Given the description of an element on the screen output the (x, y) to click on. 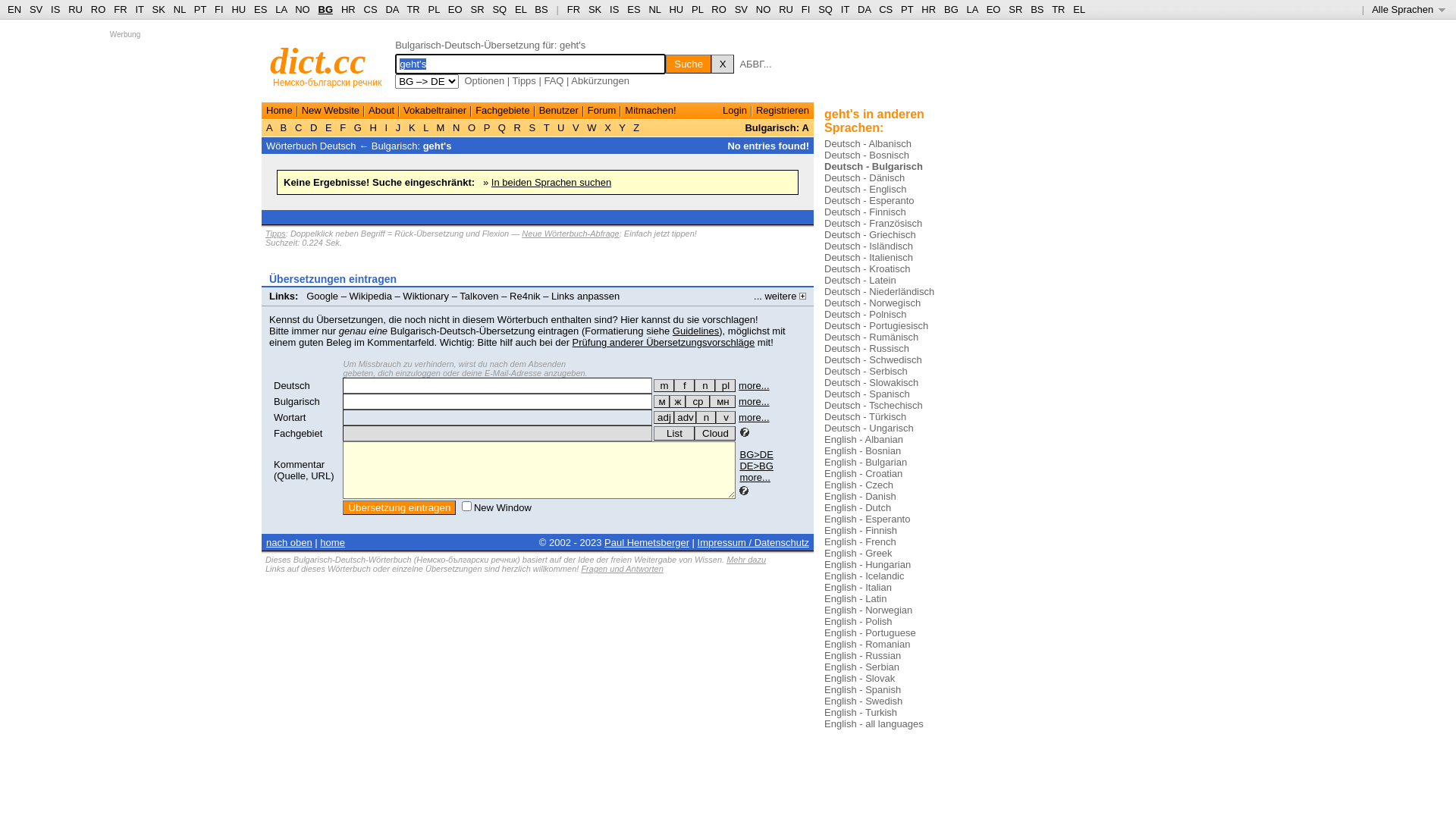
G Element type: text (357, 127)
IT Element type: text (138, 9)
PL Element type: text (433, 9)
Benutzer Element type: text (558, 110)
English - Spanish Element type: text (862, 689)
BG>DE Element type: text (755, 454)
IS Element type: text (54, 9)
English - Croatian Element type: text (863, 473)
Deutsch - Esperanto Element type: text (869, 200)
nach oben Element type: text (289, 542)
Deutsch - Slowakisch Element type: text (871, 382)
O Element type: text (470, 127)
... weitere Element type: text (779, 295)
FI Element type: text (805, 9)
Guidelines Element type: text (695, 330)
BG Element type: text (325, 9)
Tipps Element type: text (524, 80)
home Element type: text (332, 542)
EN Element type: text (14, 9)
PT Element type: text (200, 9)
English - Czech Element type: text (858, 484)
X Element type: text (722, 63)
Deutsch - Finnisch Element type: text (865, 211)
Talkoven Element type: text (478, 295)
B Element type: text (283, 127)
Deutsch - Russisch Element type: text (866, 348)
NO Element type: text (302, 9)
Vokabeltrainer Element type: text (434, 110)
M Element type: text (440, 127)
SQ Element type: text (825, 9)
W Element type: text (591, 127)
Impressum / Datenschutz Element type: text (753, 542)
die - weiblich (Femininum) Element type: hover (684, 385)
ES Element type: text (260, 9)
HU Element type: text (238, 9)
Login Element type: text (734, 110)
Deutsch - Kroatisch Element type: text (867, 268)
dict.cc Element type: text (317, 60)
English - all languages Element type: text (873, 723)
EL Element type: text (1079, 9)
List Element type: text (673, 433)
SQ Element type: text (499, 9)
Mehr dazu Element type: text (745, 559)
m Element type: text (663, 385)
About Element type: text (381, 110)
BG Element type: text (951, 9)
SV Element type: text (35, 9)
D Element type: text (313, 127)
f Element type: text (684, 385)
A Element type: text (270, 127)
English - Latin Element type: text (855, 598)
SV Element type: text (740, 9)
more... Element type: text (753, 401)
FR Element type: text (573, 9)
Wiktionary Element type: text (425, 295)
Deutsch - Polnisch Element type: text (865, 314)
die - Mehrzahl (Plural) Element type: hover (725, 385)
adv Element type: text (685, 417)
L Element type: text (425, 127)
TR Element type: text (412, 9)
Deutsch Element type: text (291, 385)
English - Albanian Element type: text (863, 439)
X Element type: text (608, 127)
In beiden Sprachen suchen Element type: text (551, 182)
Tipps Element type: text (275, 233)
more... Element type: text (754, 477)
Re4nik Element type: text (524, 295)
New Website Element type: text (330, 110)
English - Esperanto Element type: text (867, 518)
EL Element type: text (520, 9)
P Element type: text (486, 127)
n Element type: text (705, 417)
Deutsch - Portugiesisch Element type: text (876, 325)
FI Element type: text (218, 9)
Links anpassen Element type: text (585, 295)
Optionen Element type: text (484, 80)
RO Element type: text (98, 9)
Fragen und Antworten Element type: text (621, 568)
geht's Element type: text (437, 144)
C Element type: text (297, 127)
Cloud Element type: text (714, 433)
SR Element type: text (1015, 9)
RU Element type: text (75, 9)
BS Element type: text (540, 9)
K Element type: text (411, 127)
IS Element type: text (613, 9)
BS Element type: text (1036, 9)
Z Element type: text (636, 127)
more... Element type: text (753, 385)
DA Element type: text (391, 9)
Deutsch - Latein Element type: text (860, 279)
U Element type: text (560, 127)
Deutsch - Norwegisch Element type: text (872, 302)
Paul Hemetsberger Element type: text (646, 542)
n Element type: text (704, 385)
HR Element type: text (928, 9)
English - Icelandic Element type: text (864, 575)
English - Bulgarian Element type: text (865, 461)
F Element type: text (342, 127)
English - Greek Element type: text (858, 552)
Bulgarisch Element type: text (296, 401)
Google Element type: text (322, 295)
English - Polish Element type: text (858, 621)
English - Dutch Element type: text (857, 507)
NL Element type: text (654, 9)
English - Swedish Element type: text (863, 700)
EO Element type: text (993, 9)
DE>BG Element type: text (755, 465)
FR Element type: text (119, 9)
English - Finnish Element type: text (860, 530)
Suche Element type: text (688, 63)
Deutsch - Tschechisch Element type: text (873, 405)
Deutsch - Schwedisch Element type: text (873, 359)
Y Element type: text (621, 127)
Home Element type: text (279, 110)
HU Element type: text (675, 9)
Wikipedia Element type: text (370, 295)
Deutsch - Griechisch Element type: text (870, 234)
English - Danish Element type: text (860, 496)
English - Slovak Element type: text (859, 678)
English - Portuguese Element type: text (870, 632)
EO Element type: text (455, 9)
Q Element type: text (501, 127)
I Element type: text (386, 127)
J Element type: text (397, 127)
IT Element type: text (844, 9)
English - Turkish Element type: text (860, 712)
H Element type: text (373, 127)
more... Element type: text (753, 417)
English - Serbian Element type: text (861, 666)
English - Romanian Element type: text (867, 643)
English - Italian Element type: text (857, 587)
Forum Element type: text (601, 110)
Mitmachen! Element type: text (649, 110)
Deutsch - Spanisch Element type: text (867, 393)
Deutsch - Englisch Element type: text (865, 188)
V Element type: text (575, 127)
English - French Element type: text (860, 541)
English - Hungarian Element type: text (867, 564)
English - Bosnian Element type: text (862, 450)
SK Element type: text (158, 9)
Deutsch - Bulgarisch Element type: text (873, 166)
HR Element type: text (348, 9)
FAQ Element type: text (553, 80)
SK Element type: text (594, 9)
Fachgebiete Element type: text (502, 110)
S Element type: text (532, 127)
E Element type: text (328, 127)
RO Element type: text (718, 9)
TR Element type: text (1057, 9)
English - Norwegian Element type: text (868, 609)
v Element type: text (725, 417)
Registrieren Element type: text (782, 110)
Deutsch - Serbisch Element type: text (865, 370)
CS Element type: text (370, 9)
Deutsch - Albanisch Element type: text (867, 143)
N Element type: text (455, 127)
T Element type: text (546, 127)
R Element type: text (517, 127)
LA Element type: text (280, 9)
NO Element type: text (763, 9)
RU Element type: text (785, 9)
Deutsch - Bosnisch Element type: text (866, 154)
Deutsch - Italienisch Element type: text (868, 257)
Deutsch - Ungarisch Element type: text (868, 427)
SR Element type: text (476, 9)
PL Element type: text (696, 9)
Alle Sprachen  Element type: text (1408, 9)
NL Element type: text (179, 9)
adj Element type: text (663, 417)
DA Element type: text (863, 9)
ES Element type: text (633, 9)
LA Element type: text (972, 9)
PT Element type: text (906, 9)
English - Russian Element type: text (862, 655)
CS Element type: text (885, 9)
pl Element type: text (725, 385)
